Given the description of an element on the screen output the (x, y) to click on. 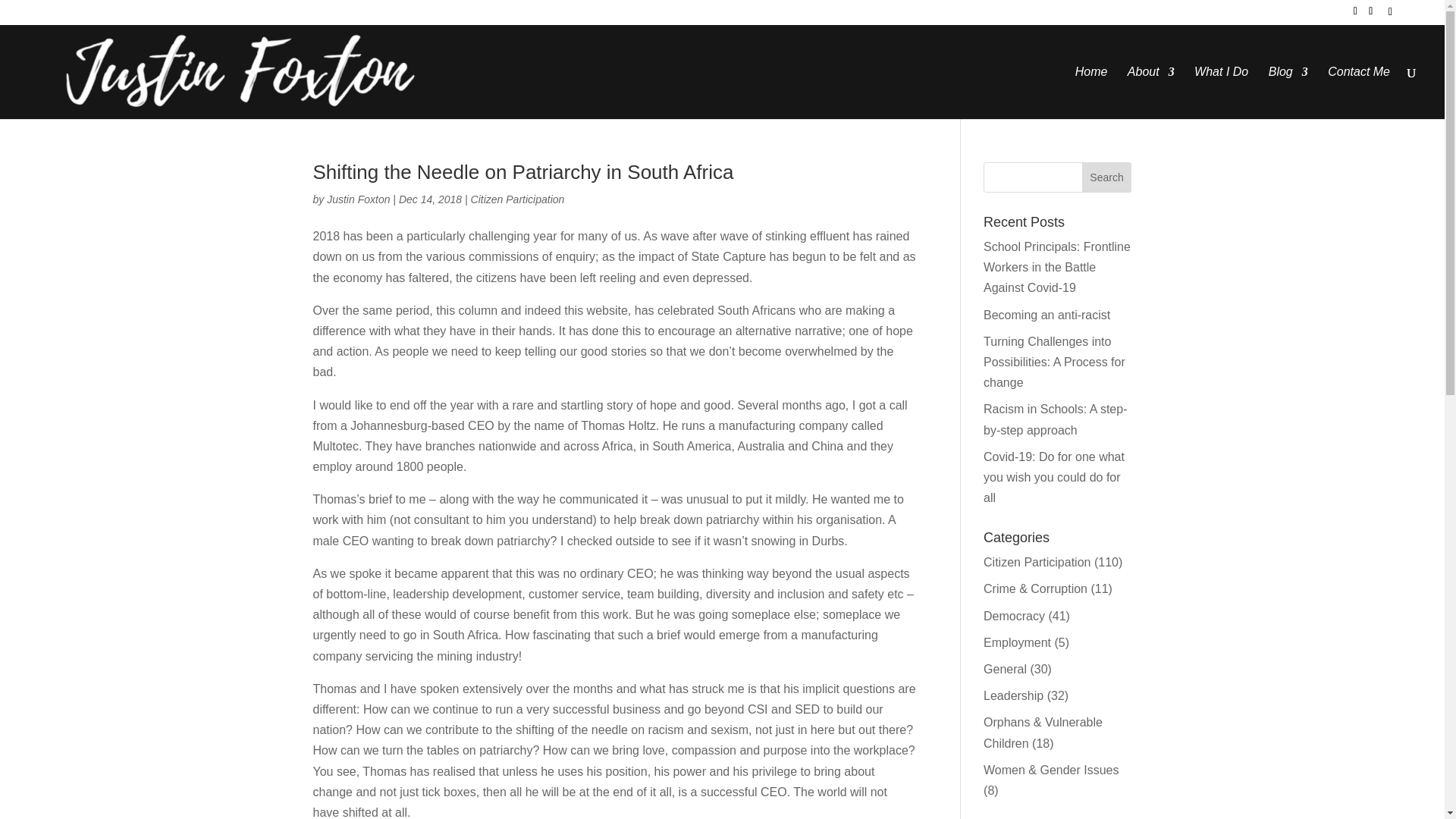
What I Do (1220, 92)
About (1150, 92)
Home (1091, 92)
Posts by Justin Foxton (358, 199)
Search (1106, 177)
Shifting the Needle on Patriarchy in South Africa (523, 171)
Citizen Participation (517, 199)
Search (1106, 177)
Blog (1287, 92)
Contact Me (1358, 92)
Becoming an anti-racist (1046, 314)
Justin Foxton (358, 199)
